Given the description of an element on the screen output the (x, y) to click on. 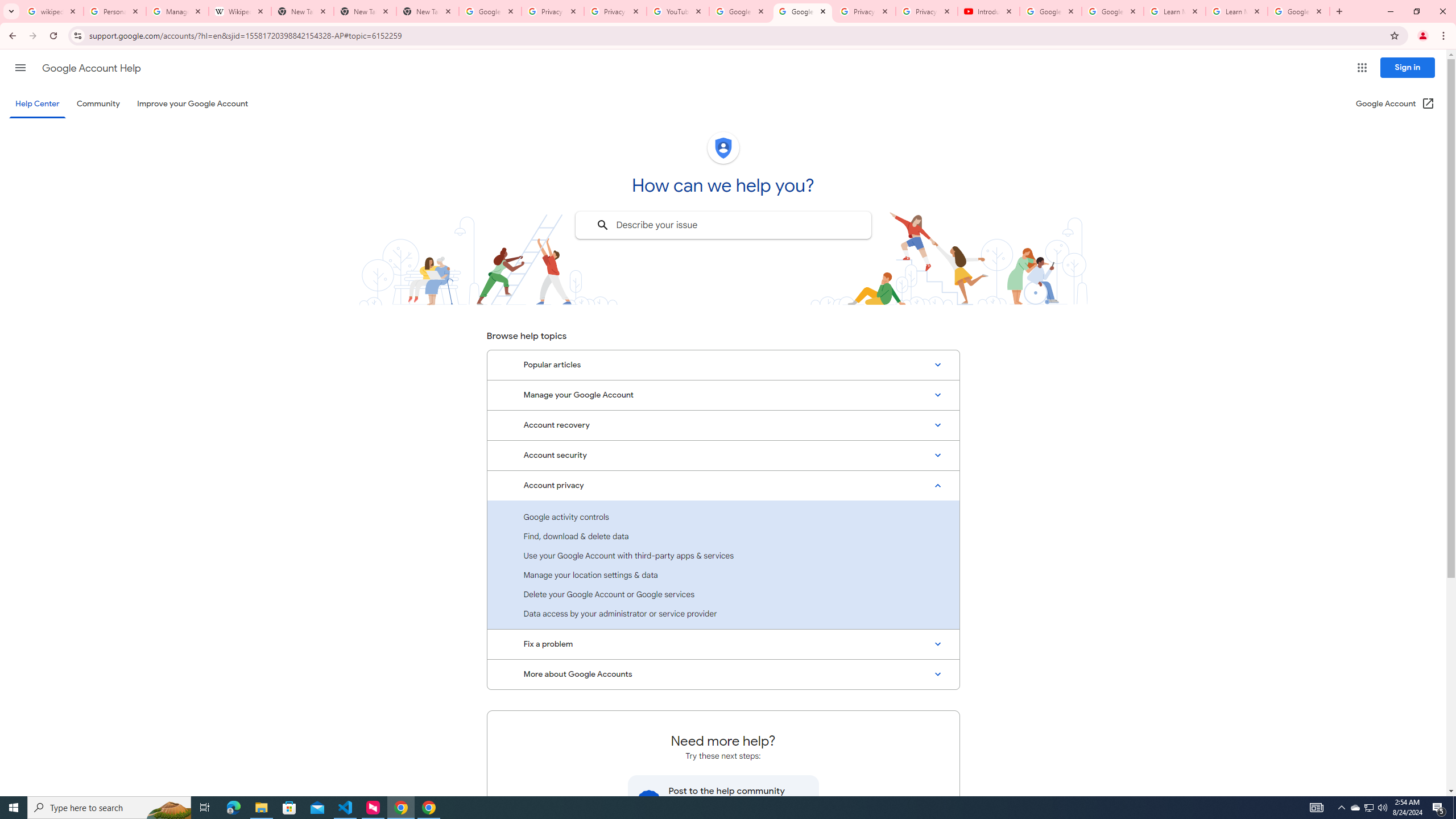
Manage your Location History - Google Search Help (177, 11)
Delete your Google Account or Google services (722, 594)
Community (97, 103)
Wikipedia:Edit requests - Wikipedia (239, 11)
Google Account Help (1111, 11)
Google Account Help (91, 68)
Personalization & Google Search results - Google Search Help (114, 11)
